Given the description of an element on the screen output the (x, y) to click on. 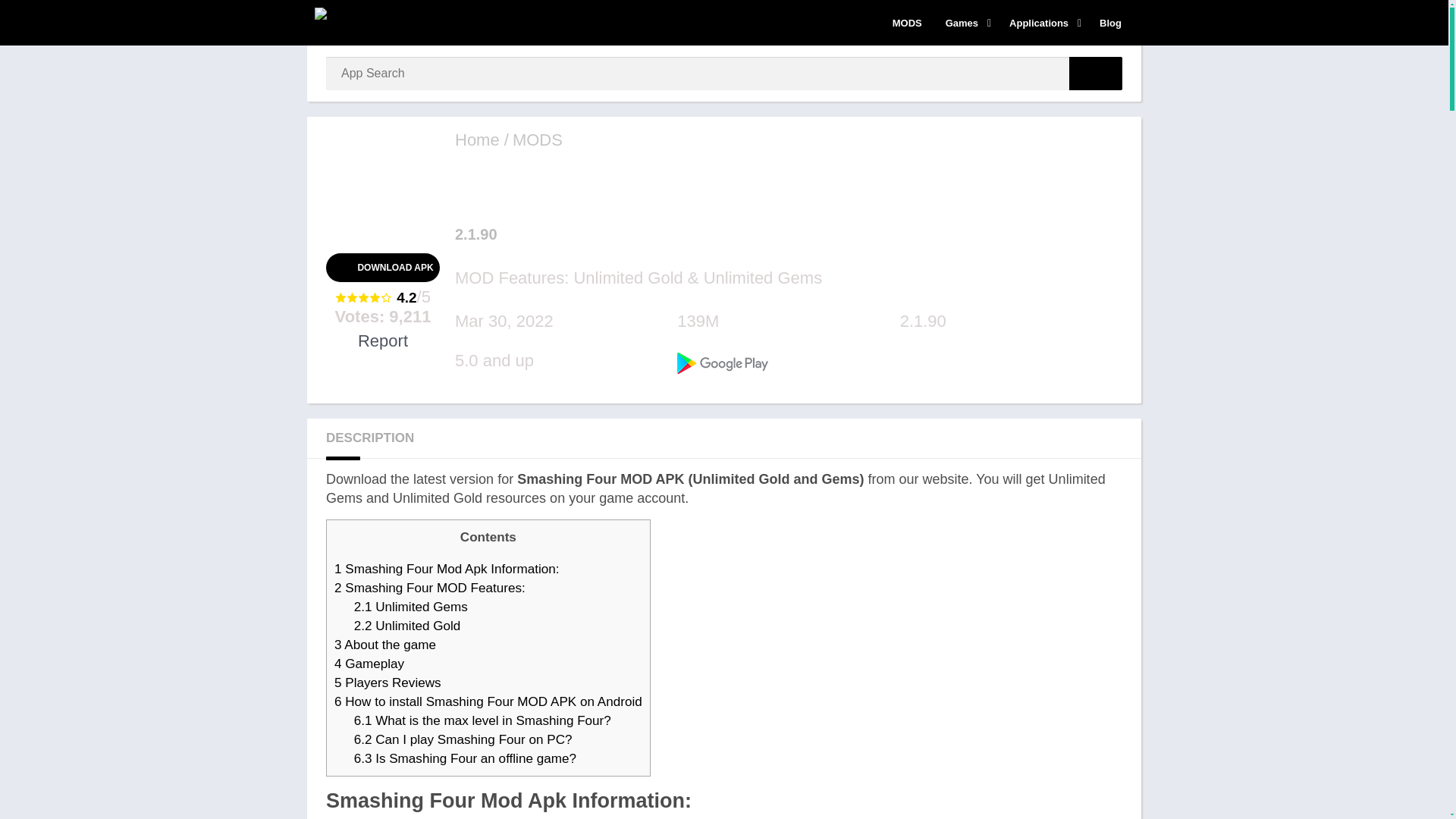
DOWNLOAD APK (382, 267)
ANDROIDMODDERS (476, 139)
App Search (1095, 73)
